Given the description of an element on the screen output the (x, y) to click on. 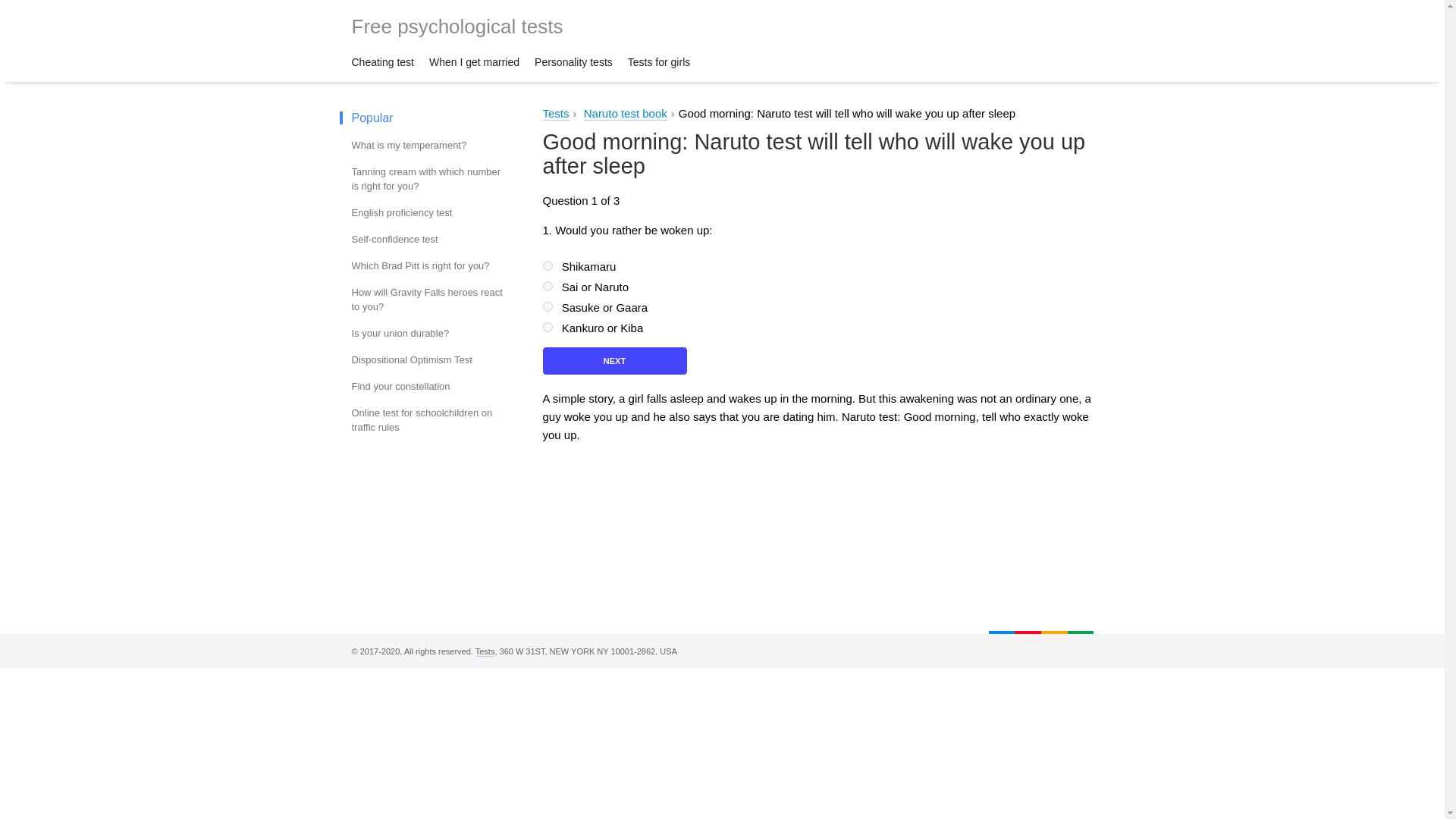
Is your union durable? (427, 333)
Which Brad Pitt is right for you? (427, 265)
Tanning cream with which number is right for you? (427, 178)
Tests (556, 113)
Next (615, 360)
Naruto test book (624, 113)
Free psychological tests (457, 26)
Dispositional Optimism Test (427, 359)
Self-confidence test (427, 239)
Online test for schoolchildren on traffic rules (427, 419)
